Given the description of an element on the screen output the (x, y) to click on. 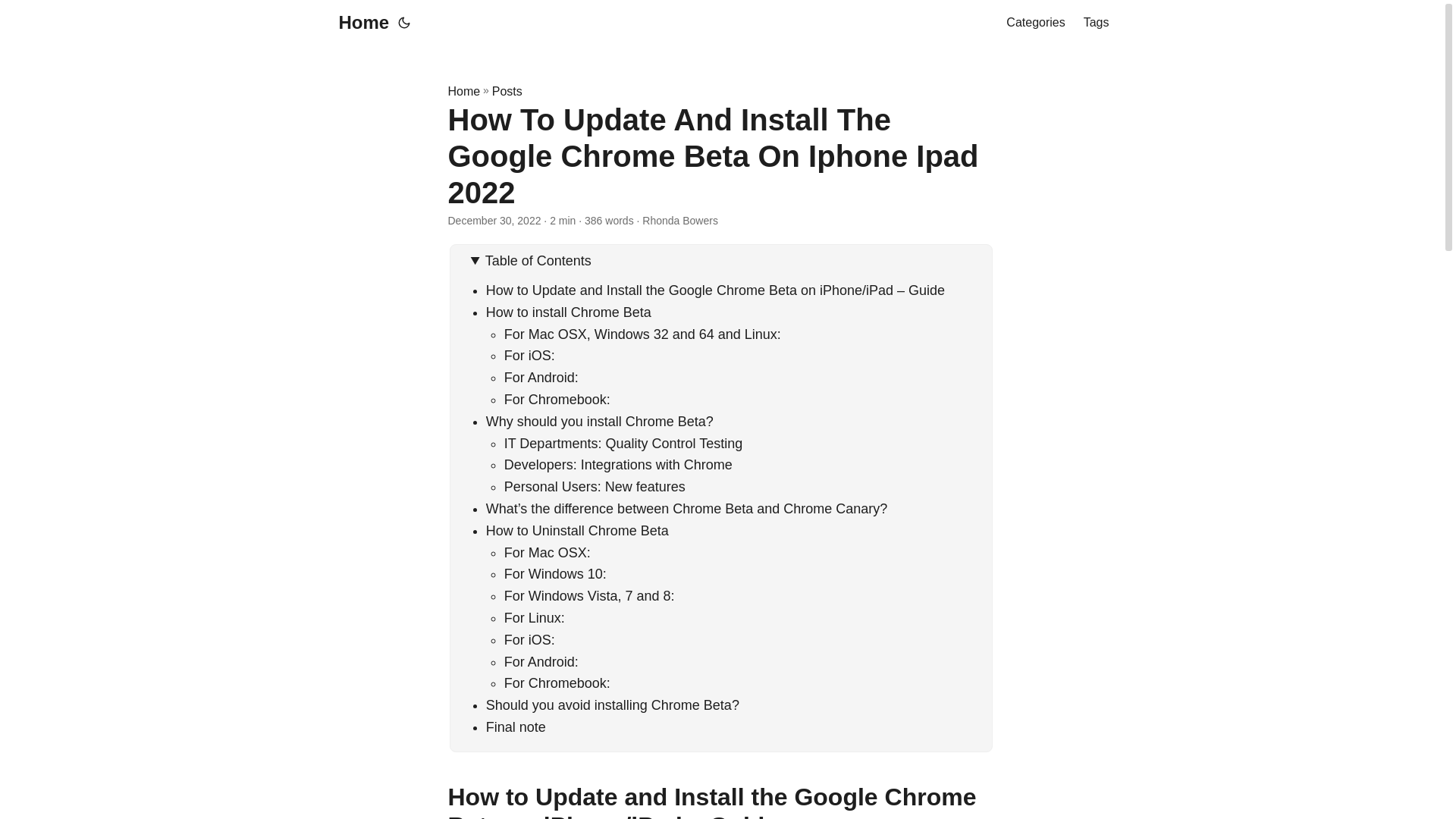
For Android: (540, 377)
How to Uninstall Chrome Beta (577, 530)
Personal Users: New features (594, 486)
For Linux: (533, 617)
How to install Chrome Beta (568, 312)
For iOS: (528, 355)
Categories (1035, 22)
For Chromebook: (556, 399)
Posts (507, 91)
Why should you install Chrome Beta? (599, 421)
